Given the description of an element on the screen output the (x, y) to click on. 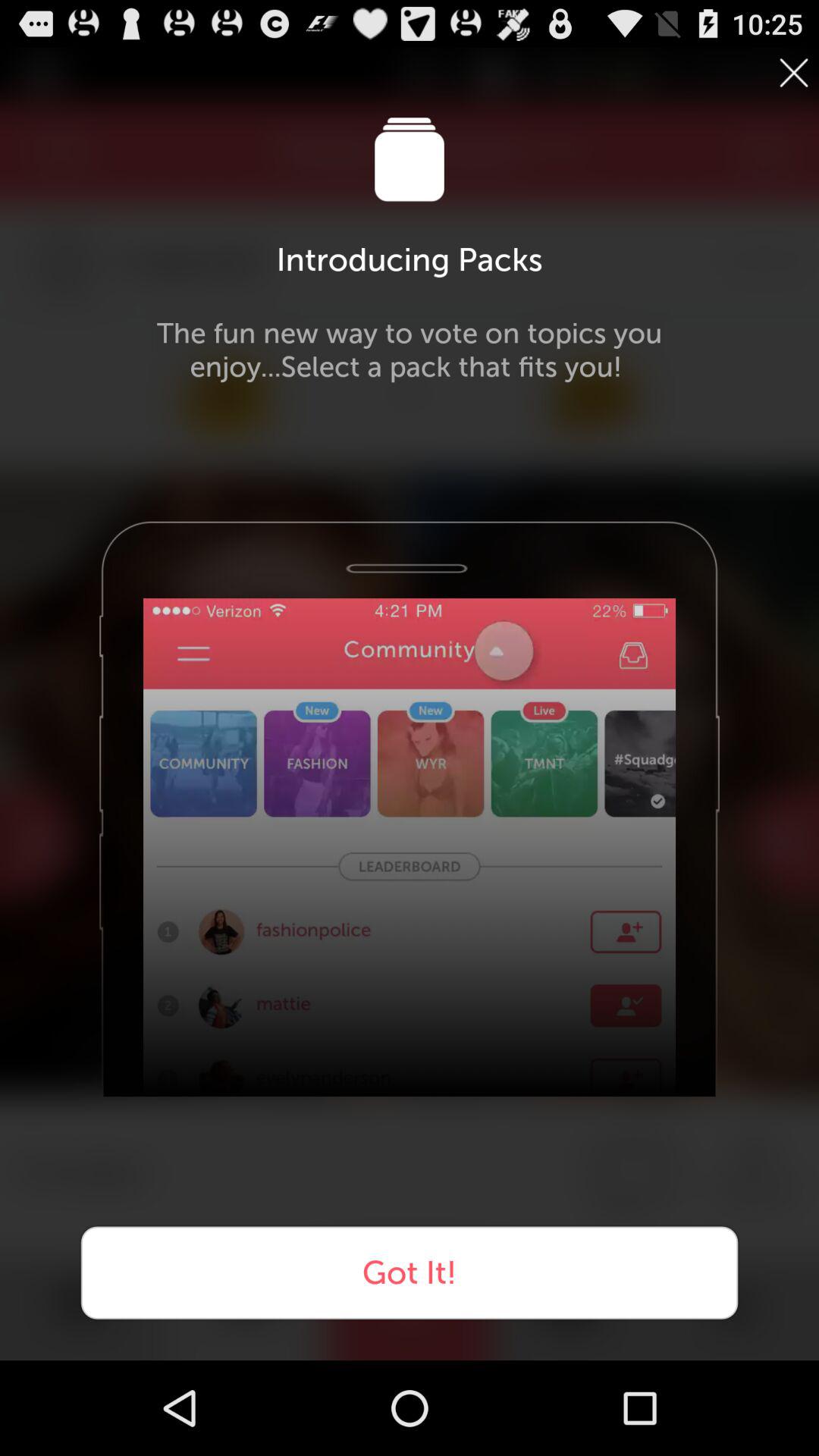
turn off got it! item (409, 1272)
